Given the description of an element on the screen output the (x, y) to click on. 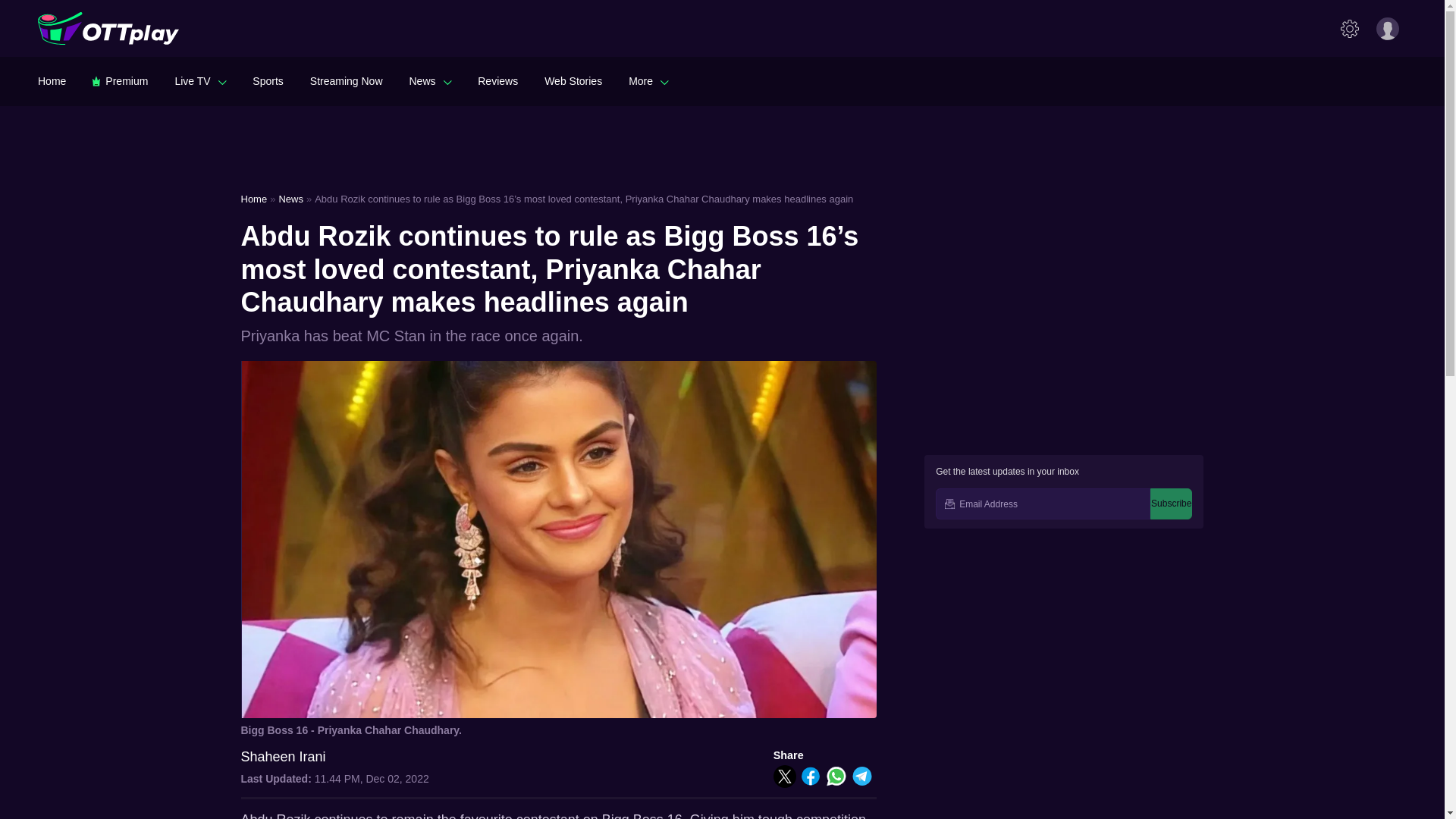
Live TV (199, 80)
Web Stories (573, 80)
Streaming Now (346, 80)
News (430, 80)
Premium (120, 80)
